Given the description of an element on the screen output the (x, y) to click on. 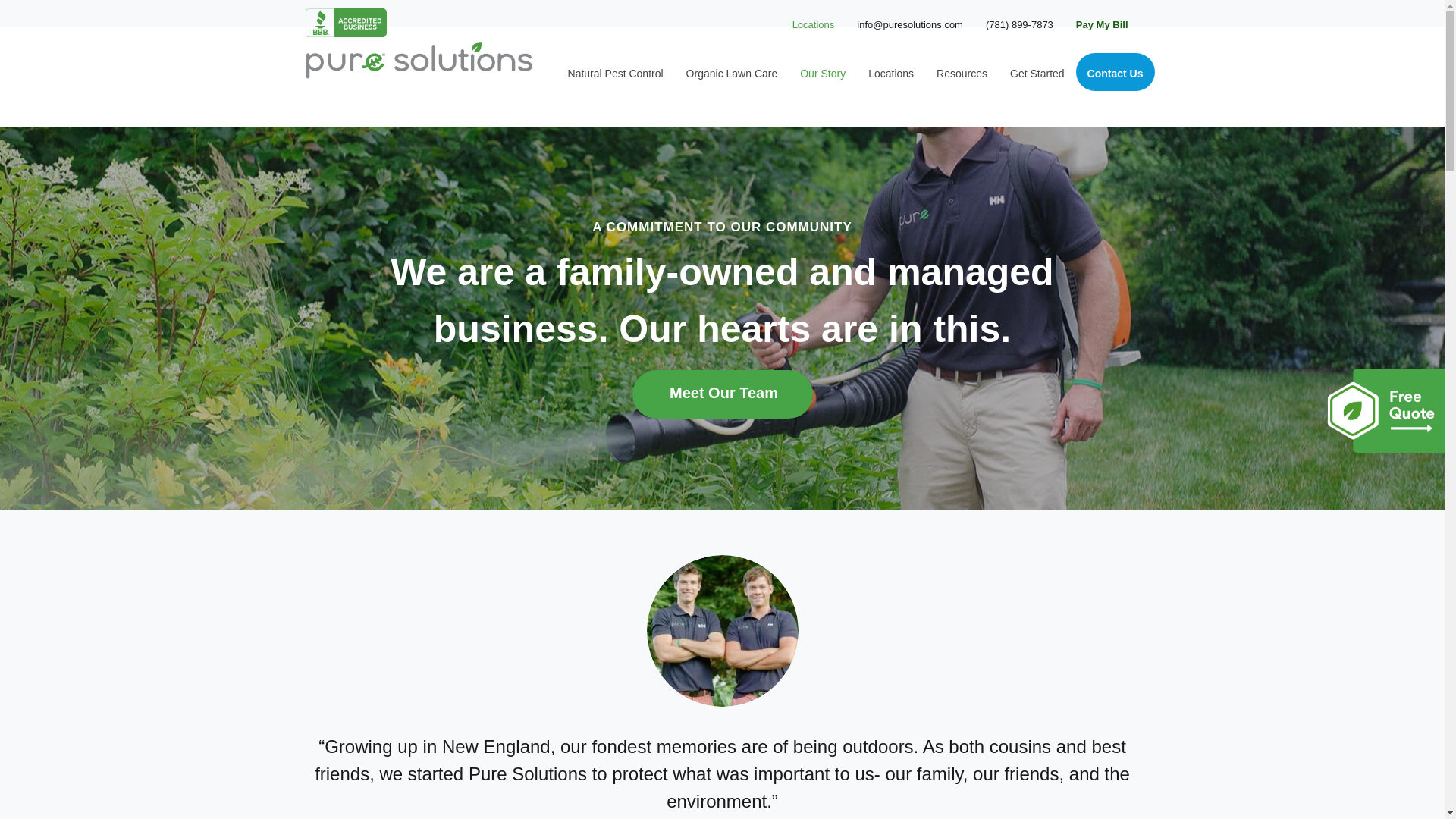
Organic Lawn Care (732, 71)
Our Story (823, 71)
Contact Us (1114, 71)
Natural Pest Control (615, 71)
Natural Pest Control (615, 71)
Get Started (1036, 71)
Resources (961, 71)
Meet Our Team (721, 394)
Our Story (823, 71)
Locations (890, 71)
